Given the description of an element on the screen output the (x, y) to click on. 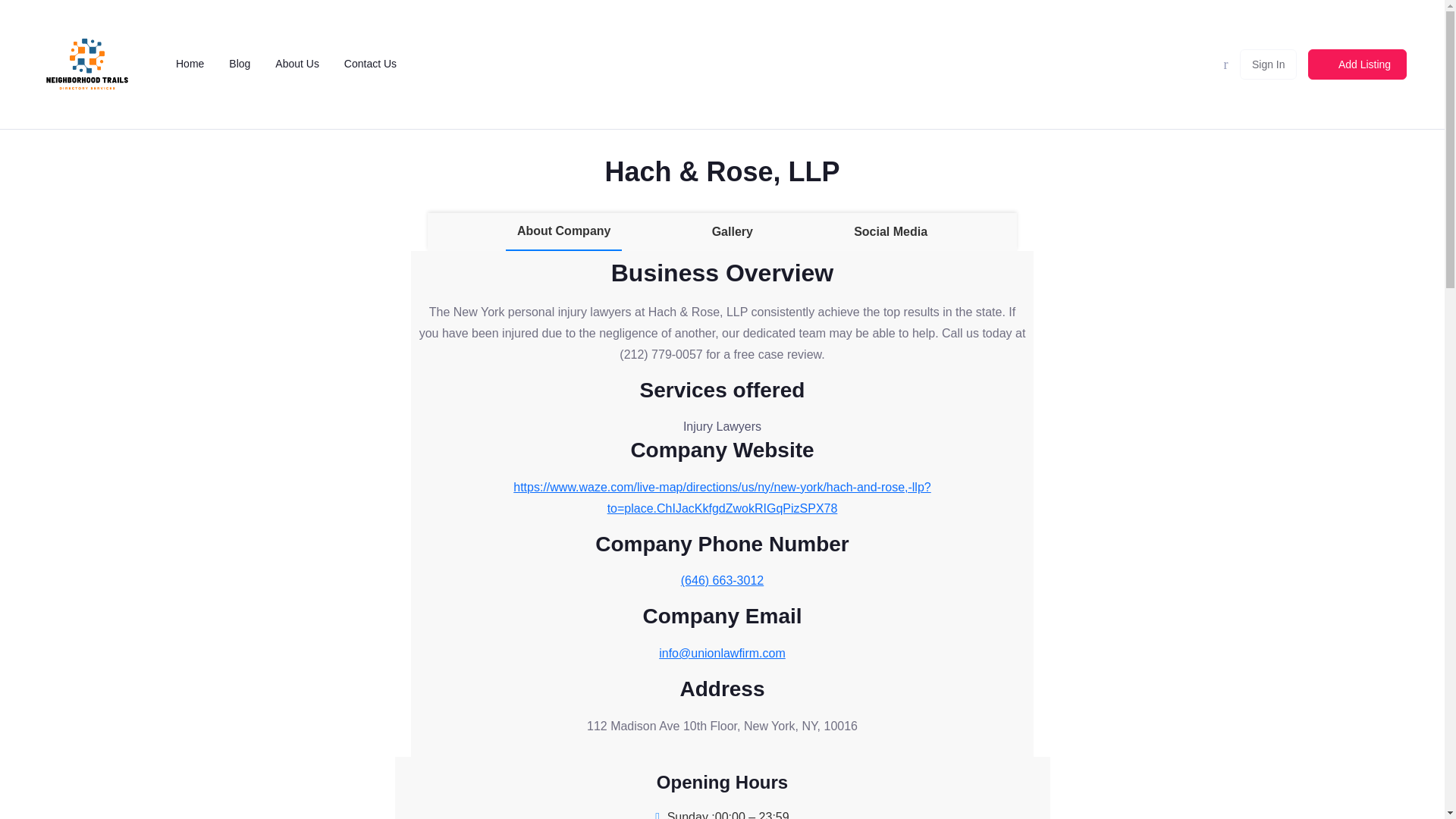
Contact Us (368, 63)
Blog (238, 63)
About Us (296, 63)
Gallery (732, 231)
Add Listing (1356, 64)
Sign In (1268, 64)
About Company (564, 231)
Home (188, 63)
